Given the description of an element on the screen output the (x, y) to click on. 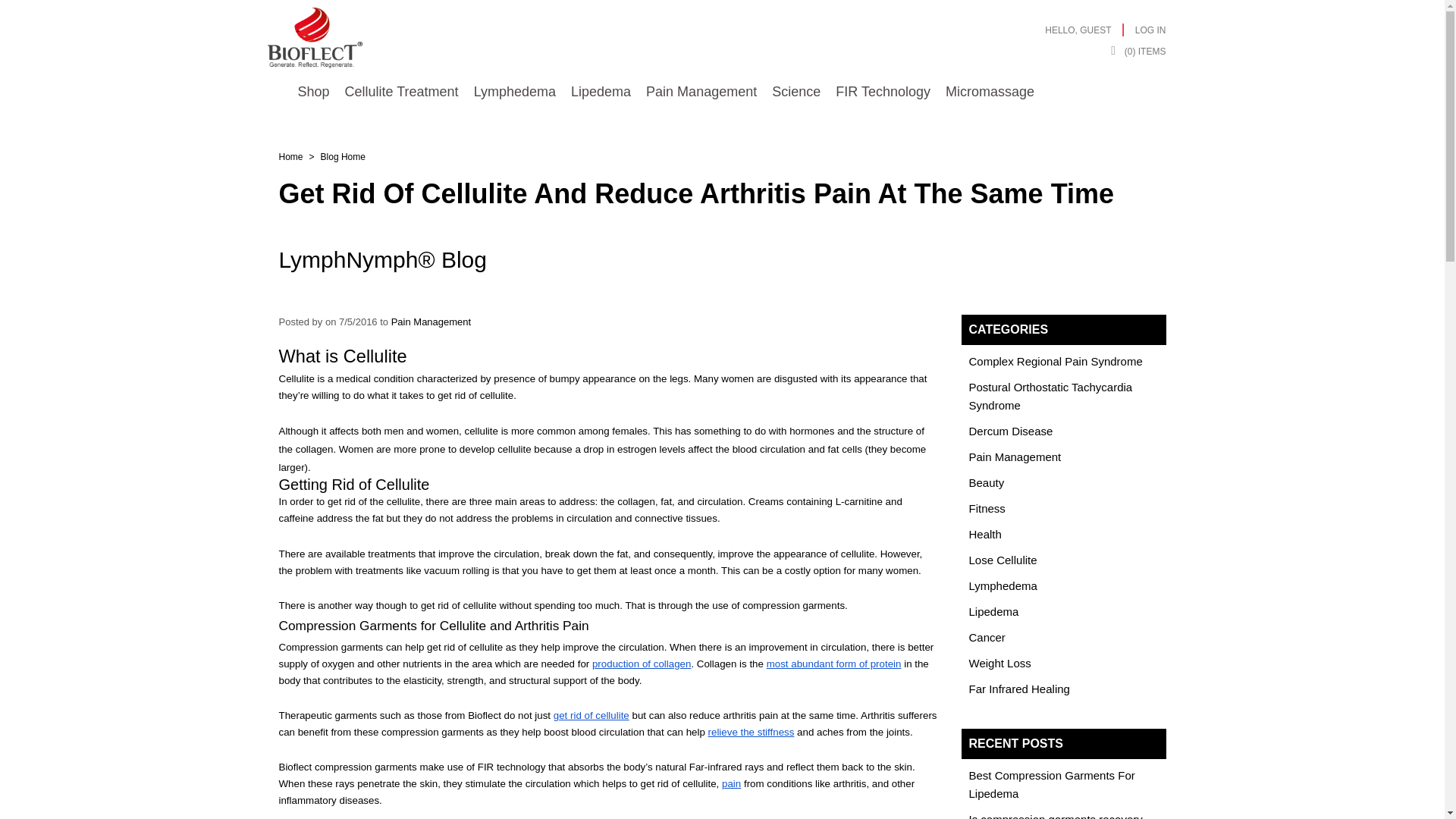
production of collagen (641, 662)
Postural Orthostatic Tachycardia Syndrome (1050, 395)
relieve the stiffness (750, 730)
most abundant form of protein (834, 662)
Cellulite Treatment (401, 91)
Blog Home (342, 156)
Lymphedema (514, 91)
Lipedema (601, 91)
Dercum Disease (1010, 431)
Lymphedema (1002, 585)
Complex Regional Pain Syndrome (1055, 360)
Health (985, 533)
Home (290, 156)
FIR Technology (882, 91)
Pain Management (431, 321)
